Given the description of an element on the screen output the (x, y) to click on. 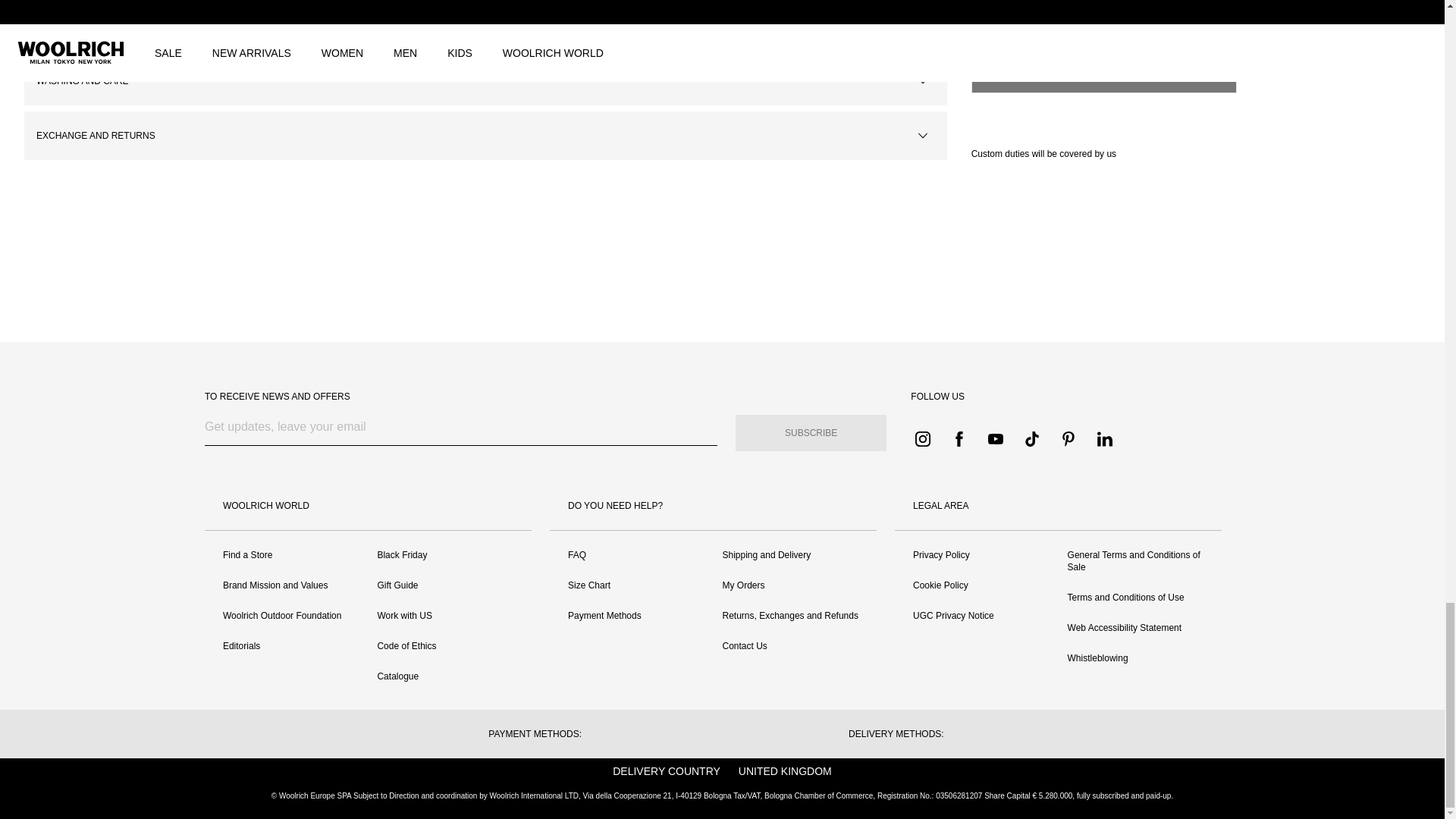
SUBSCRIBE (810, 432)
WASHING AND CARE (485, 80)
EXCHANGE AND RETURNS (485, 135)
MATERIALS (485, 26)
